Given the description of an element on the screen output the (x, y) to click on. 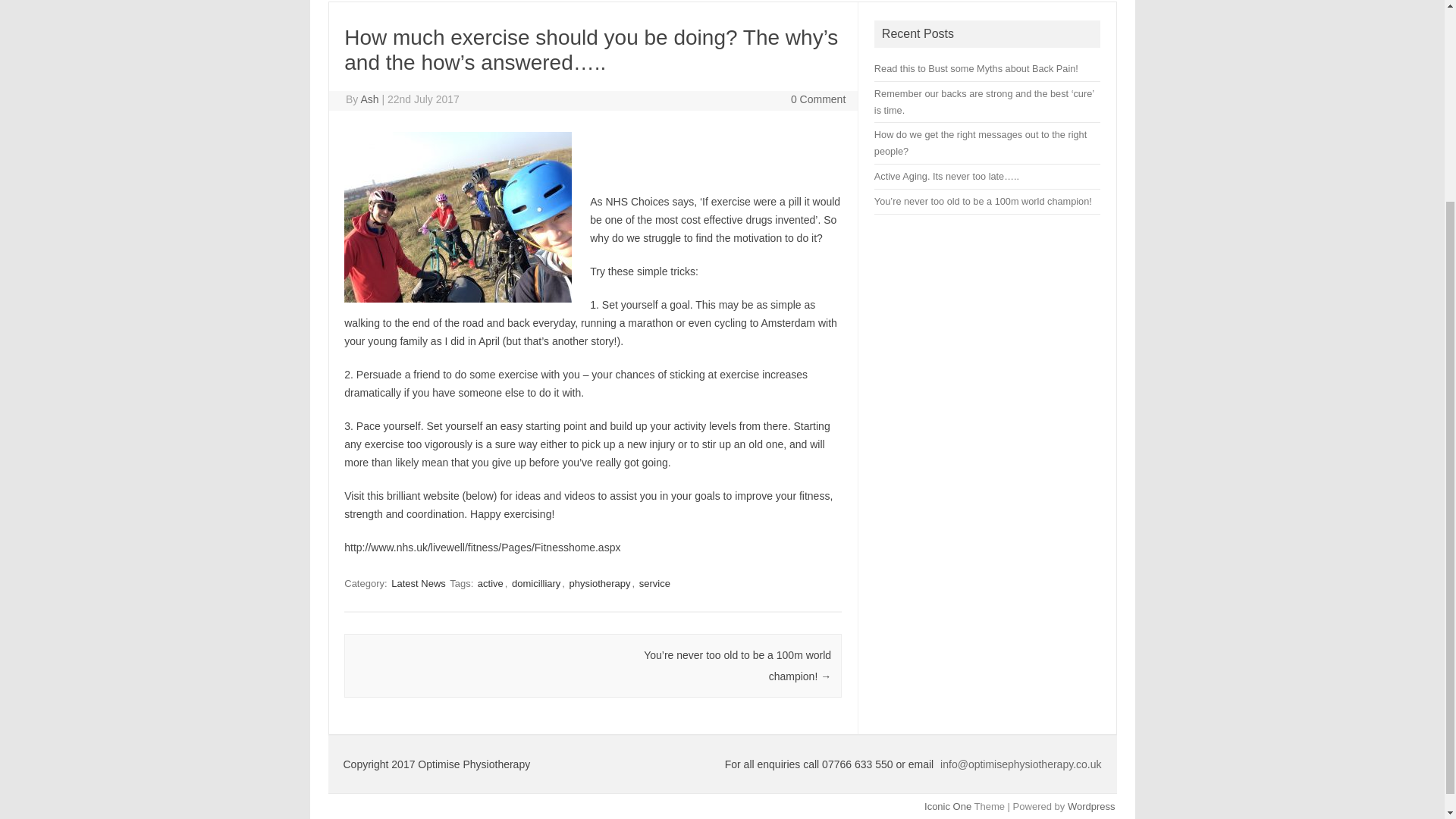
How do we get the right messages out to the right people? (980, 142)
Ash (368, 99)
domicilliary (536, 583)
Wordpress (1091, 806)
Read this to Bust some Myths about Back Pain! (976, 68)
active (490, 583)
Iconic One (947, 806)
0 Comment (817, 99)
Latest News (418, 583)
service (654, 583)
